Given the description of an element on the screen output the (x, y) to click on. 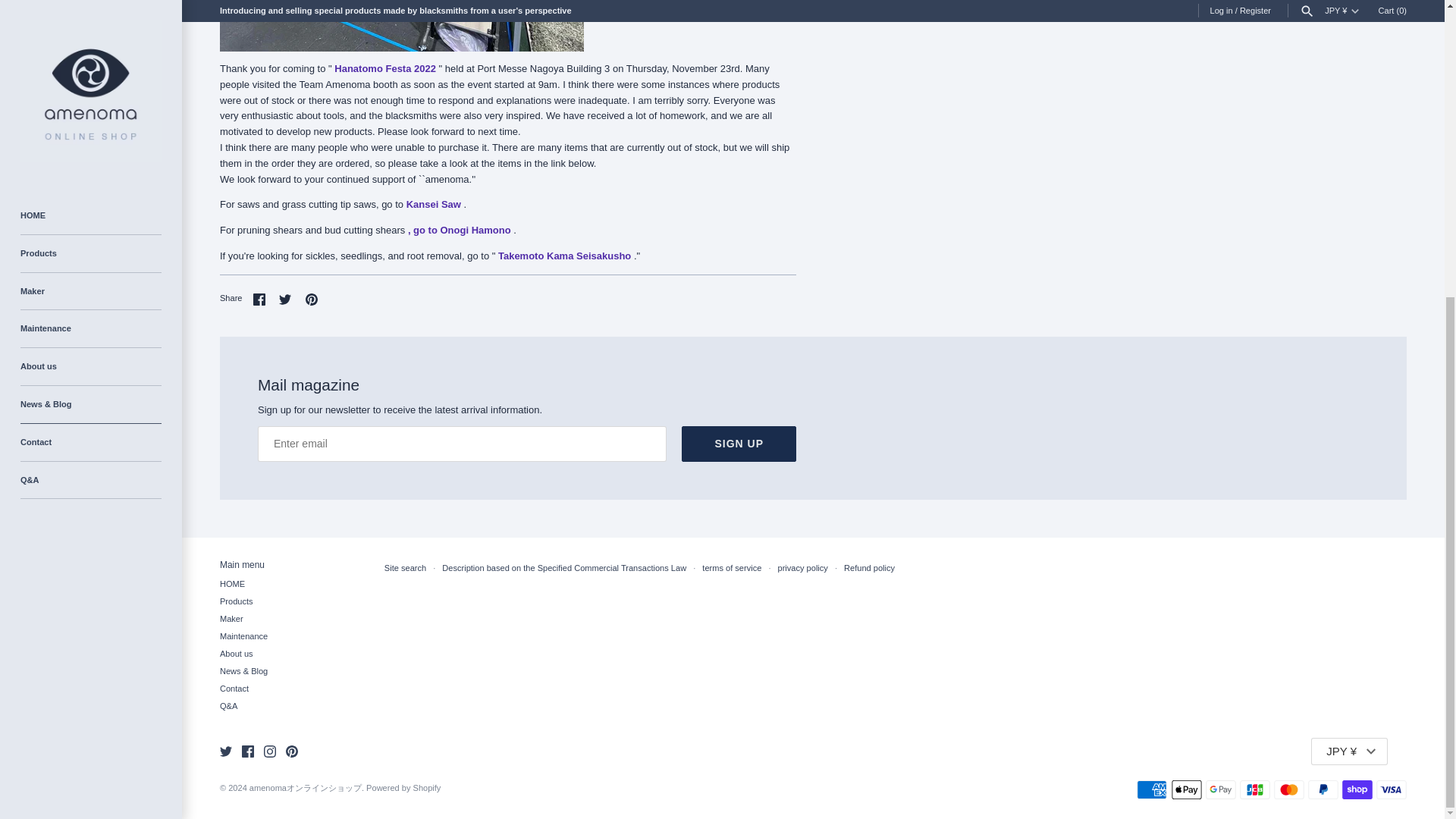
Kansai saw saw mowing tip saw ez shovel (433, 204)
Flower Friends Festa 2022 Carmen Event (384, 68)
JCB (1254, 789)
Mastercard (1289, 789)
Instagram (269, 751)
Twitter (285, 299)
Twitter (225, 751)
American Express (1152, 789)
Pinterest (311, 299)
Pinterest (291, 751)
PayPal (1322, 789)
Apple Pay (1187, 789)
Takemoto Kama Seisakusho Sickle Soil Stick Universal Sickle (563, 255)
Facebook (247, 751)
Facebook (258, 299)
